Given the description of an element on the screen output the (x, y) to click on. 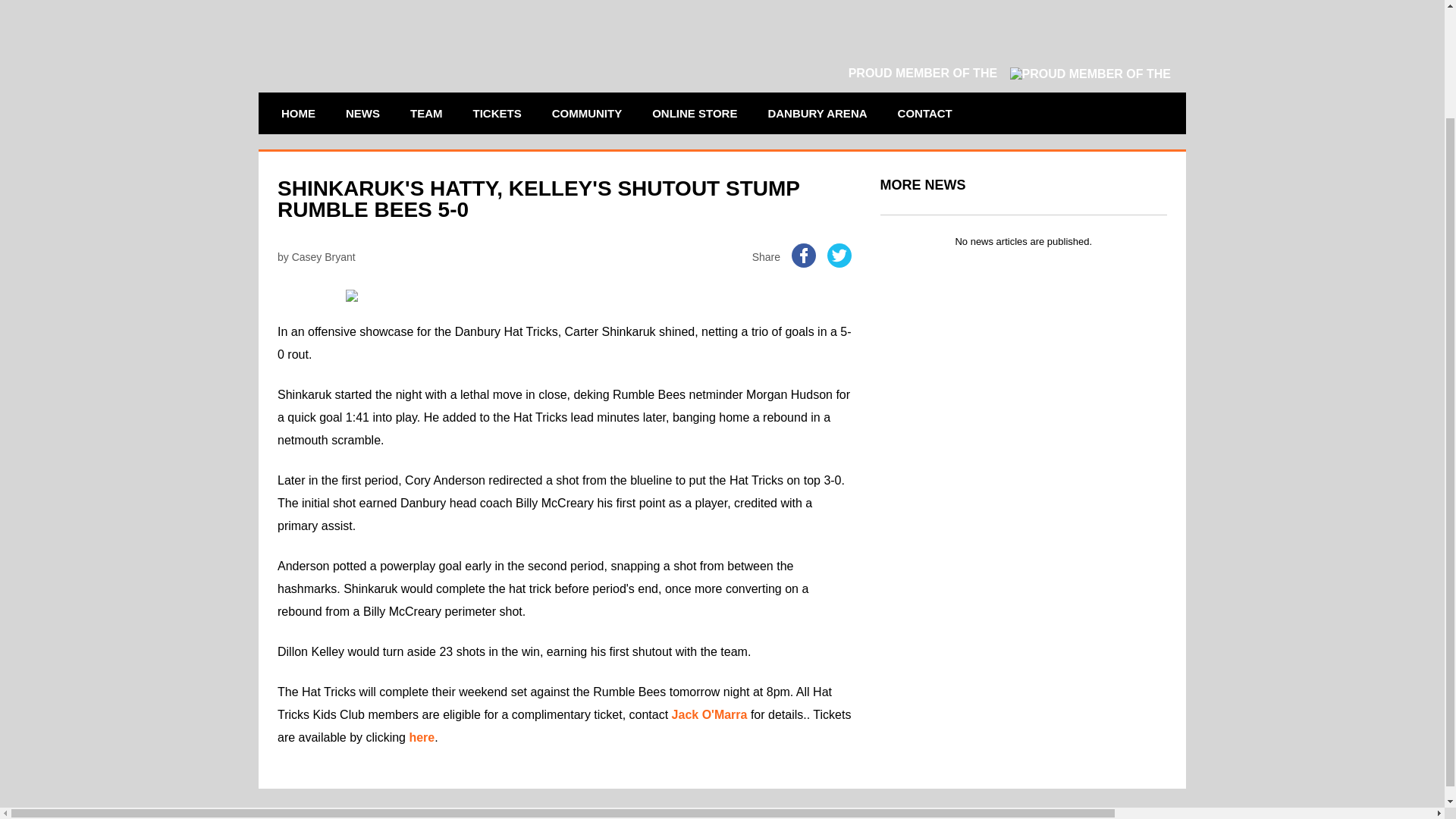
NEWS (362, 113)
HOME (297, 113)
PROUD MEMBER OF THE (1009, 72)
